Given the description of an element on the screen output the (x, y) to click on. 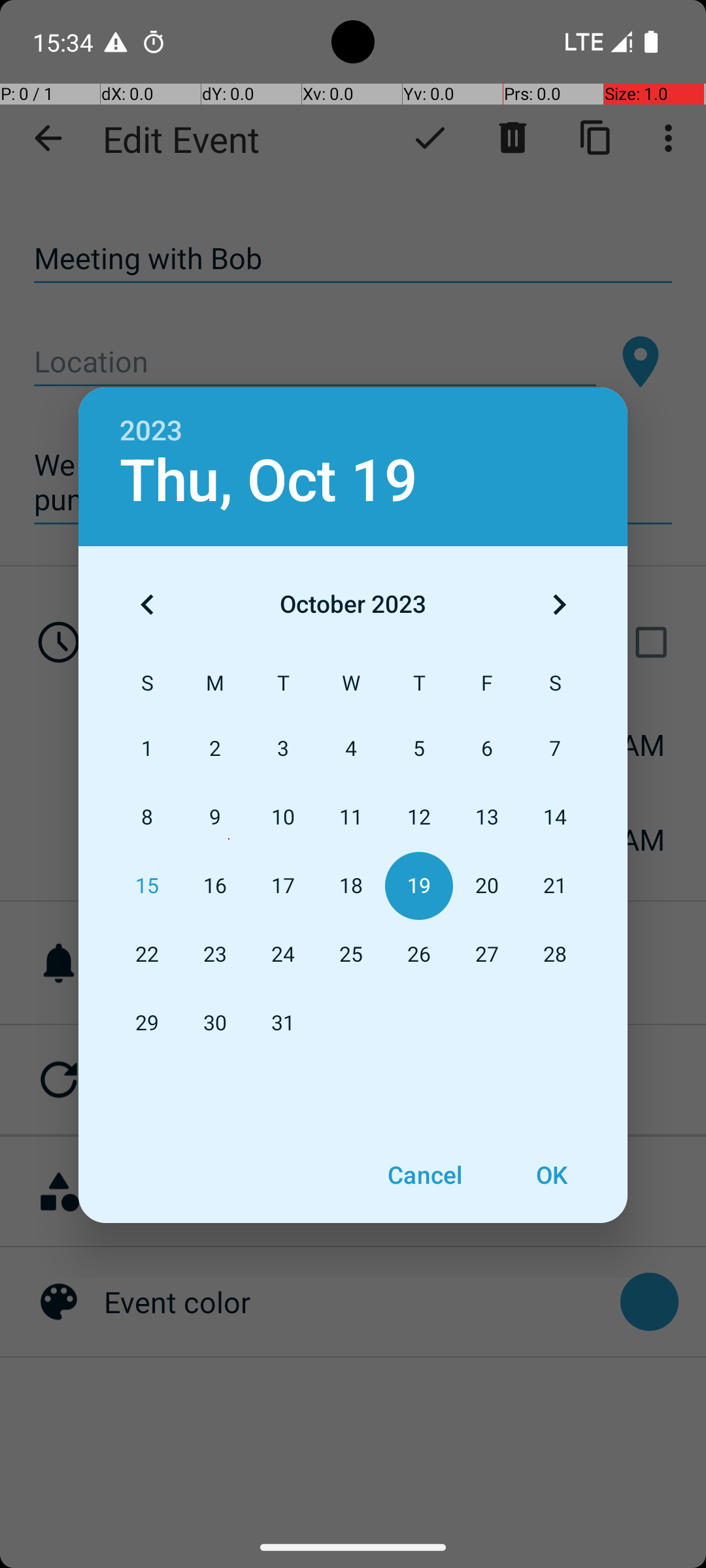
Thu, Oct 19 Element type: android.widget.TextView (268, 480)
